Given the description of an element on the screen output the (x, y) to click on. 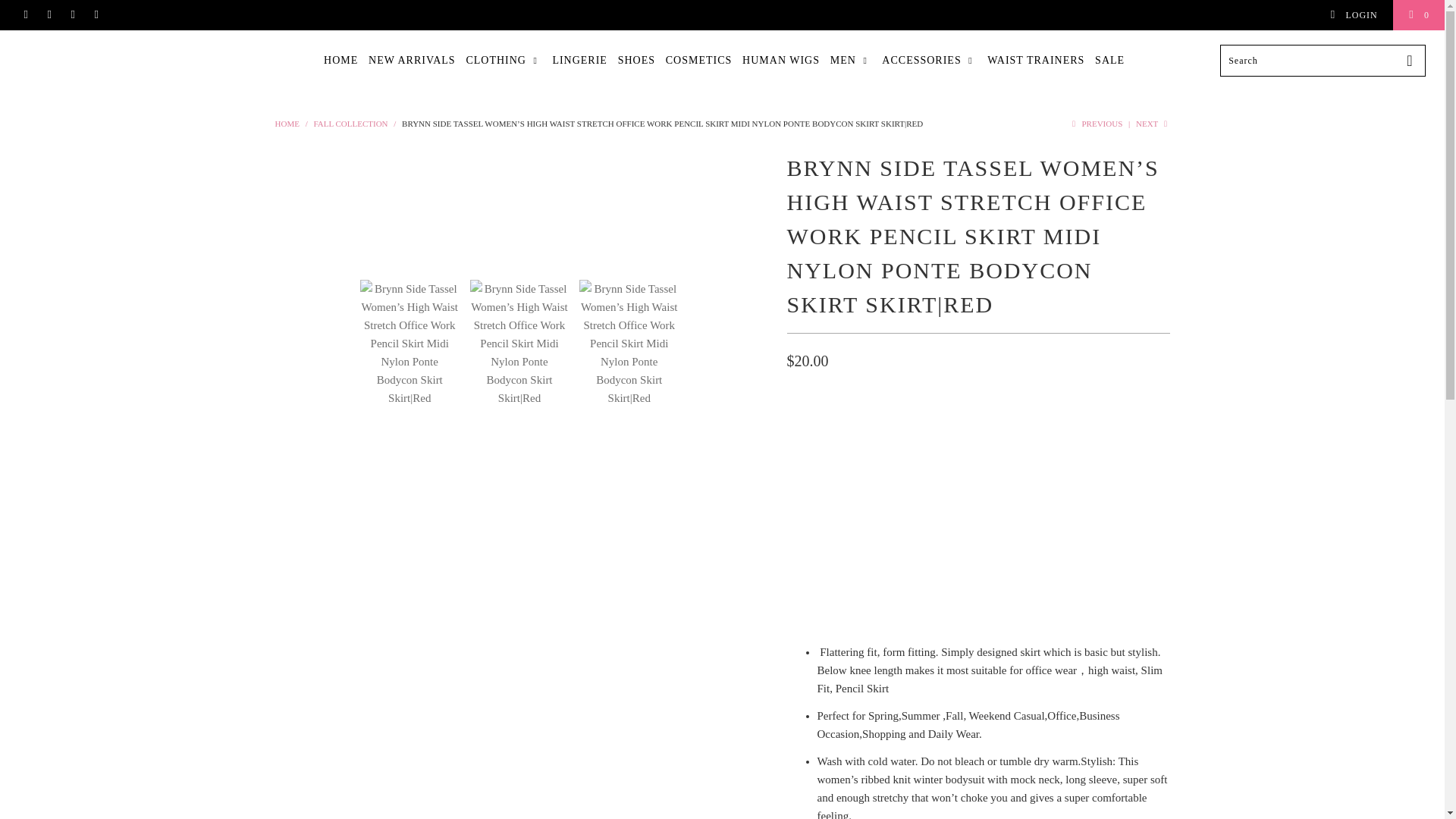
Next (1152, 122)
My Account  (1352, 15)
Chic Always Boutique,LLC (286, 122)
Chic Always Boutique,LLC (115, 50)
Previous (1095, 122)
Chic Always Boutique,LLC on Facebook (25, 14)
Chic Always Boutique,LLC on Instagram (71, 14)
Fall Collection (350, 122)
Chic Always Boutique,LLC on Snapchat (94, 14)
Chic Always Boutique,LLC on YouTube (48, 14)
